Given the description of an element on the screen output the (x, y) to click on. 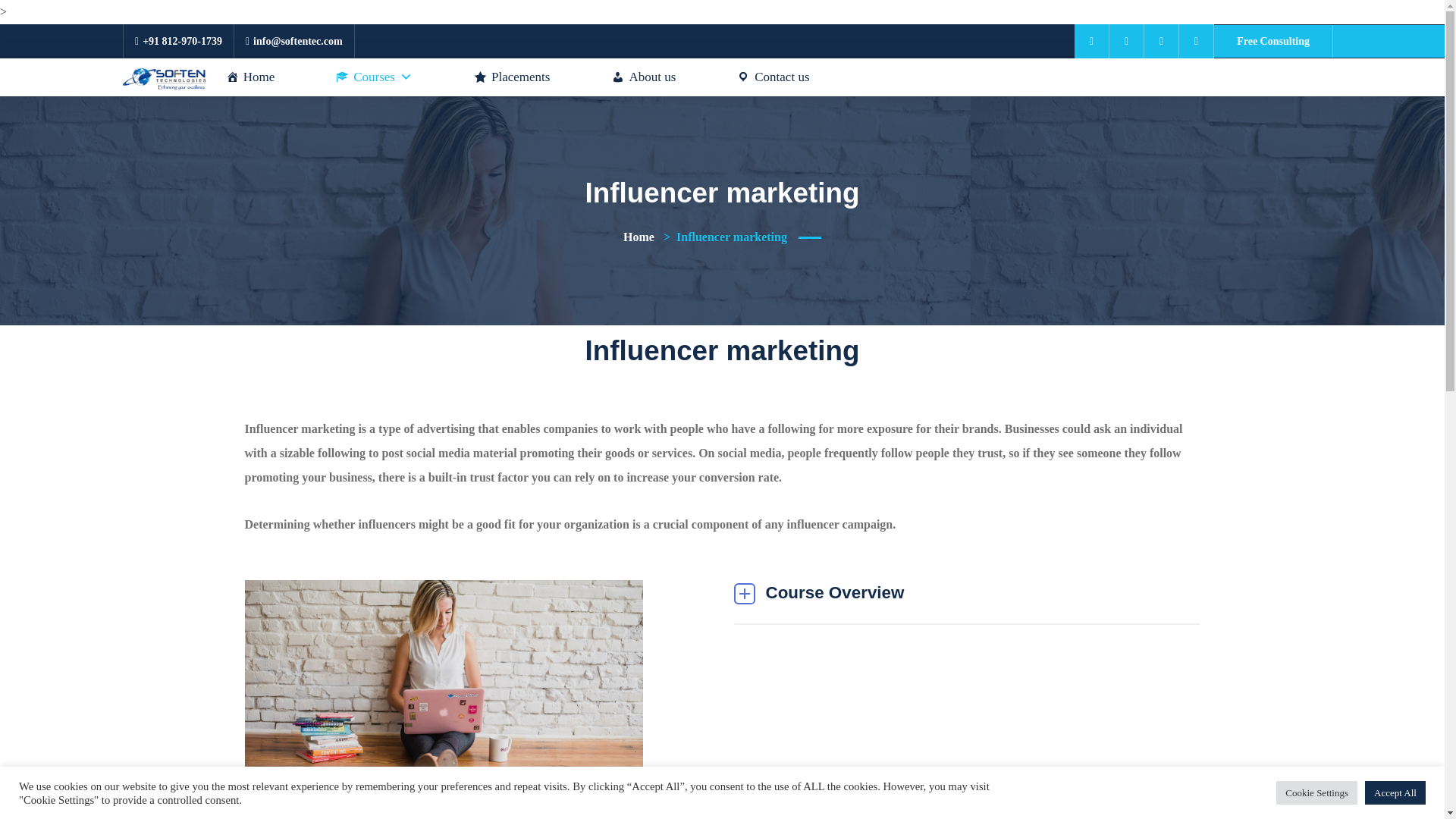
Home (250, 77)
Courses (374, 77)
Free Consulting (1273, 41)
